Given the description of an element on the screen output the (x, y) to click on. 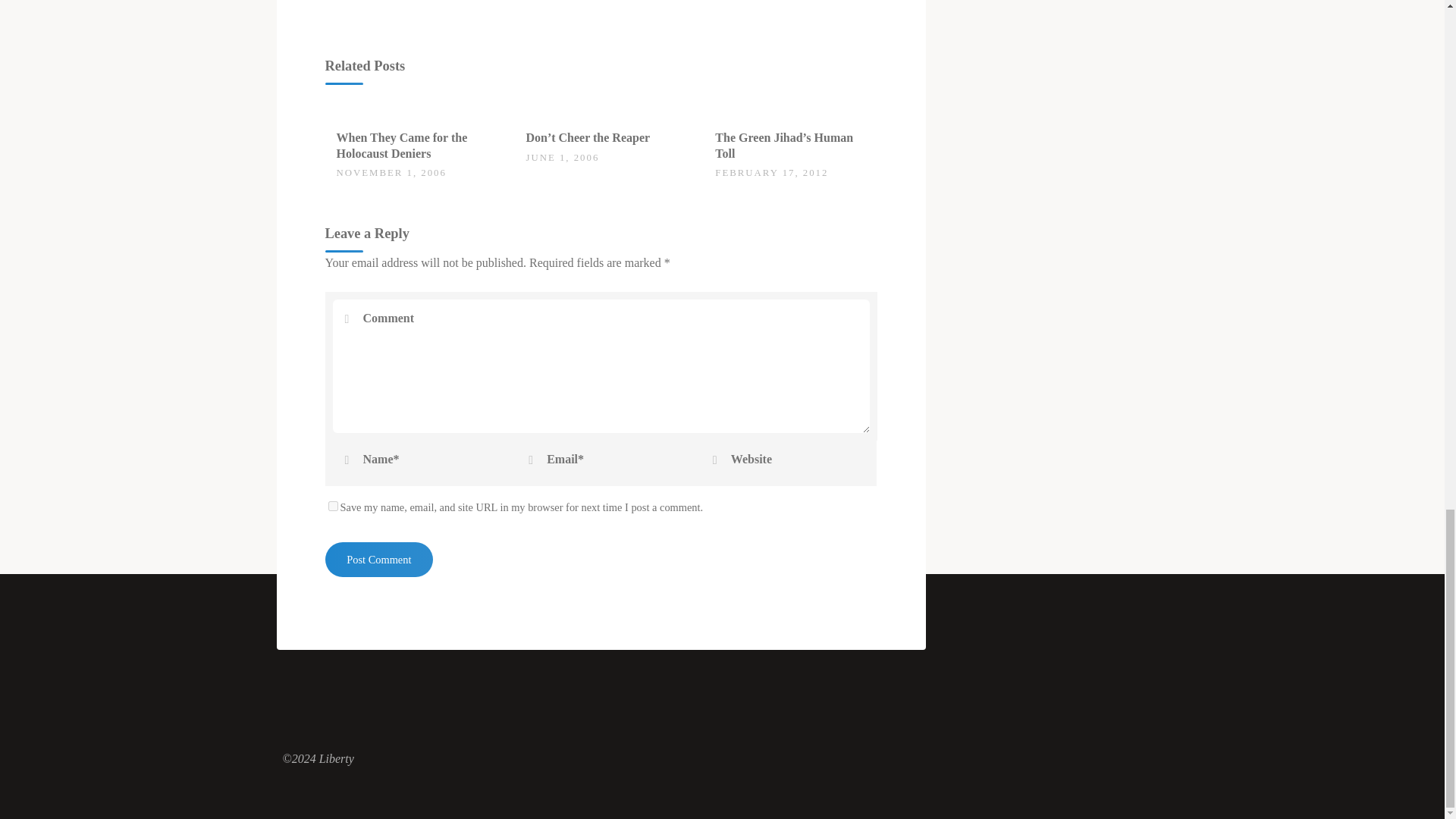
Post Comment (378, 559)
When They Came for the Holocaust Deniers (401, 145)
yes (332, 506)
